Given the description of an element on the screen output the (x, y) to click on. 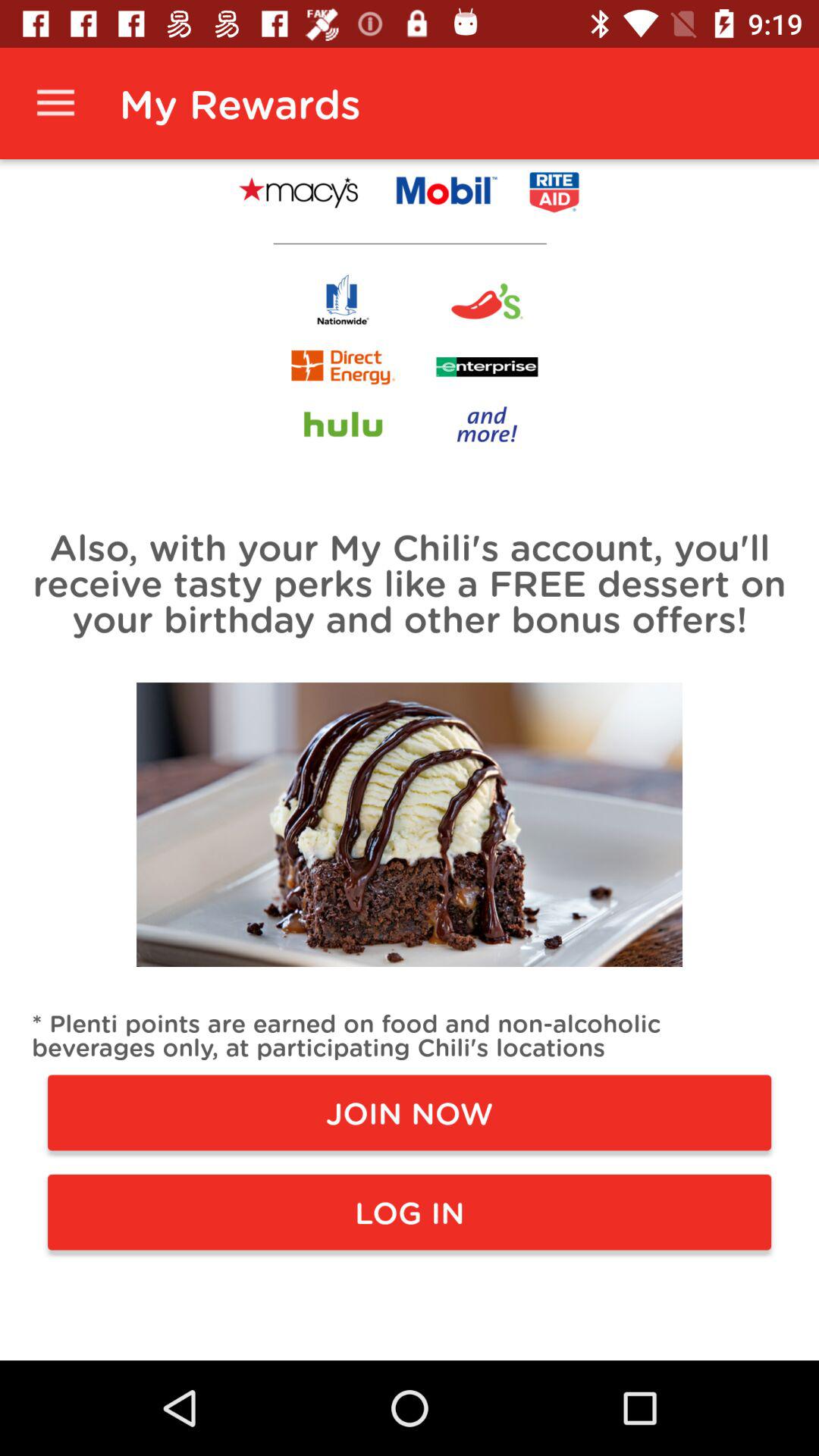
tap the icon below join now icon (409, 1212)
